Given the description of an element on the screen output the (x, y) to click on. 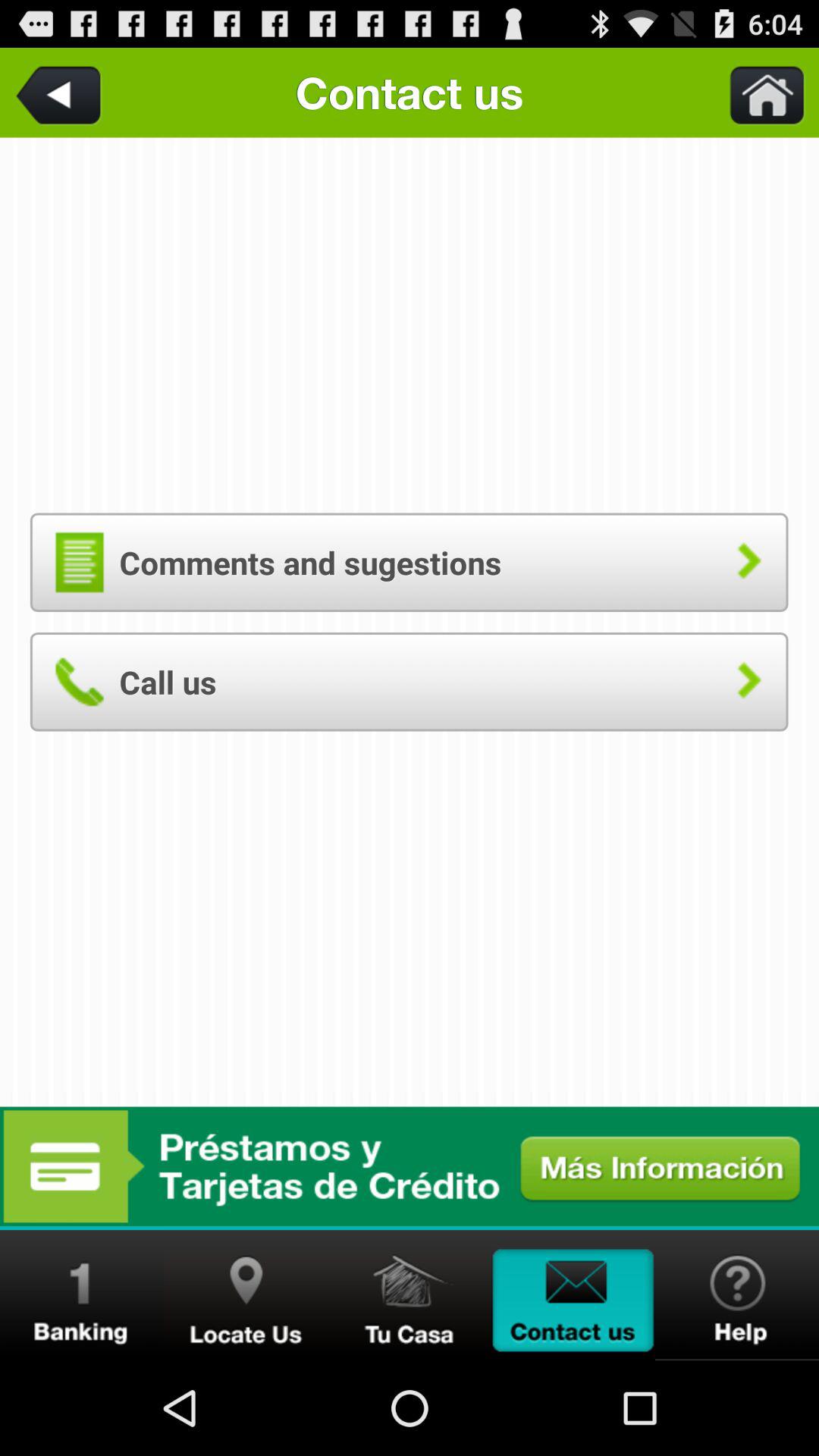
go to home screen (409, 1295)
